Given the description of an element on the screen output the (x, y) to click on. 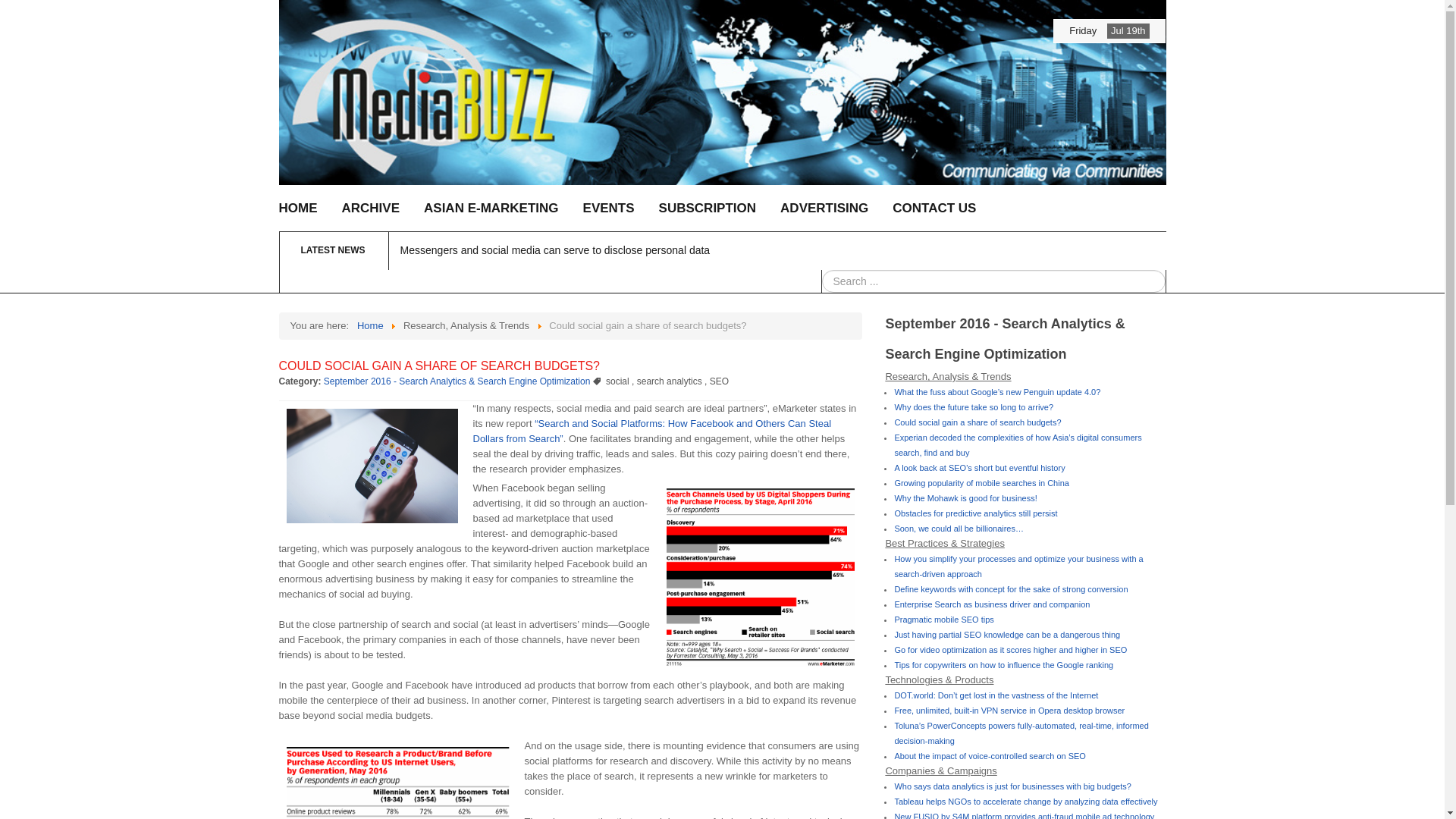
HOME (298, 207)
ARCHIVE (369, 207)
Search ... (994, 281)
